Given the description of an element on the screen output the (x, y) to click on. 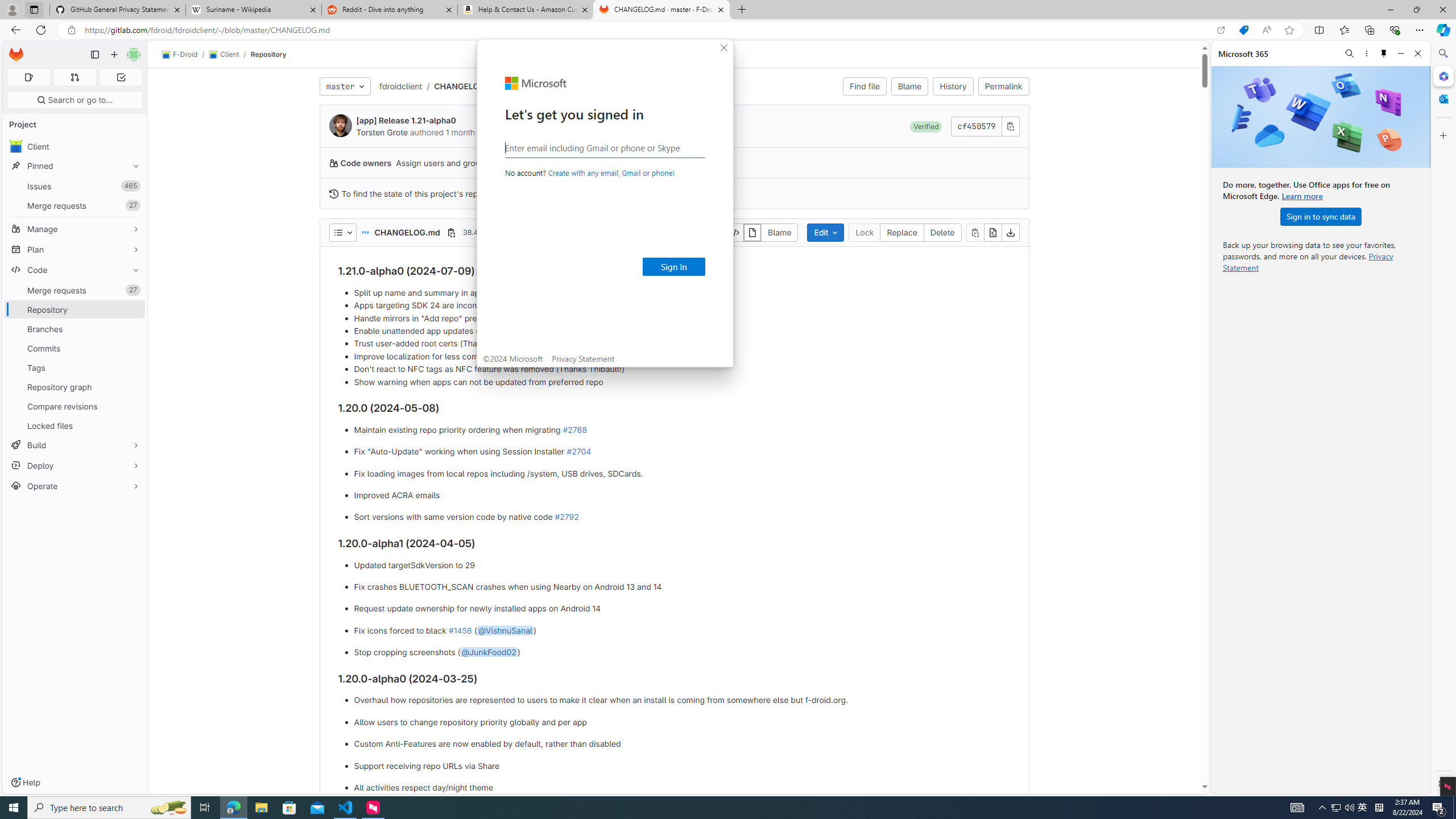
Pin Locked files (132, 425)
Pin Tags (132, 367)
F-Droid/ (185, 54)
Locked files (74, 425)
Merge requests27 (74, 289)
Fix icons forced to black #1458 (@VishnuSanal) (681, 630)
Type here to search (108, 807)
